Given the description of an element on the screen output the (x, y) to click on. 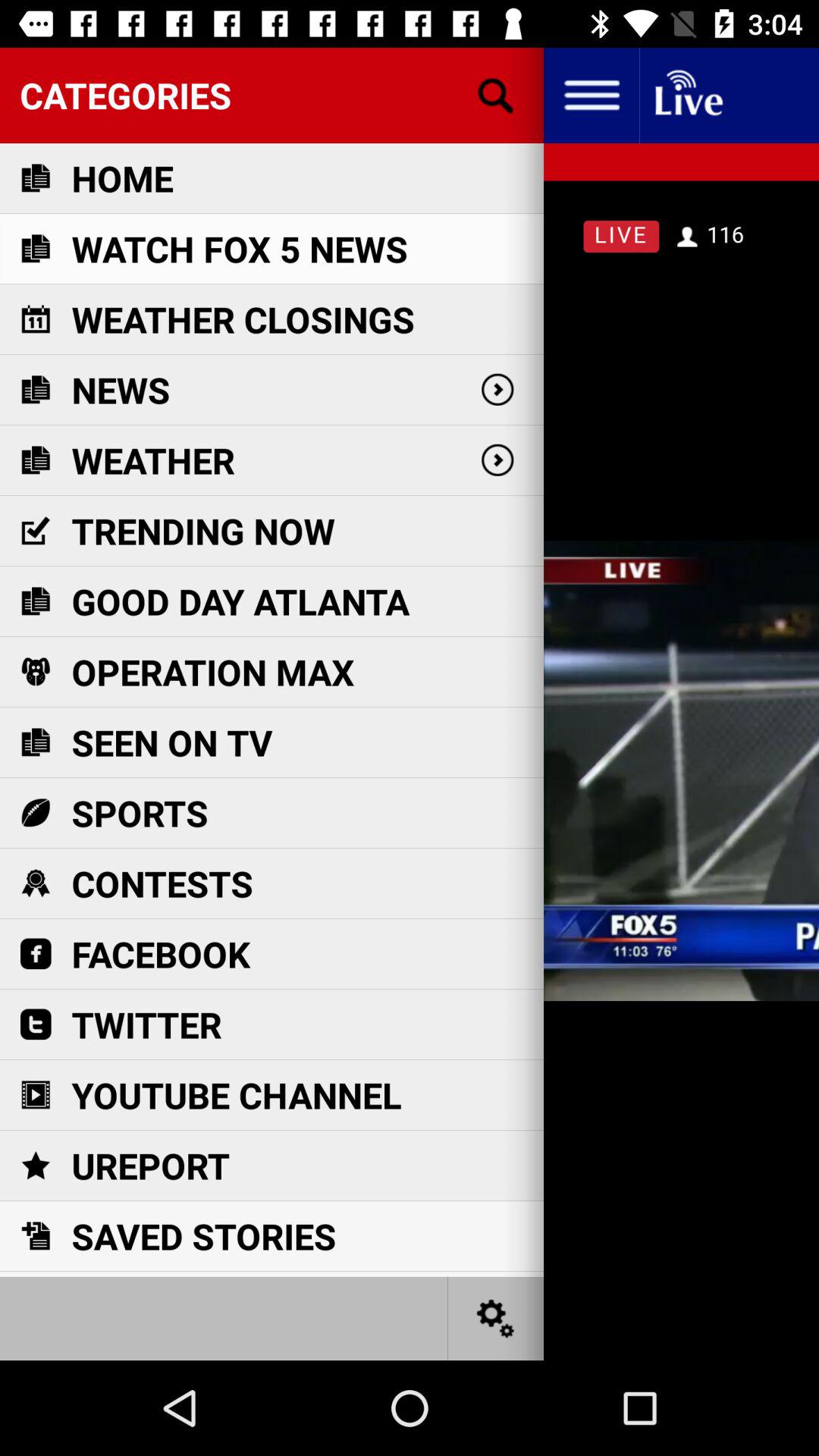
click to setting option (495, 1318)
